Given the description of an element on the screen output the (x, y) to click on. 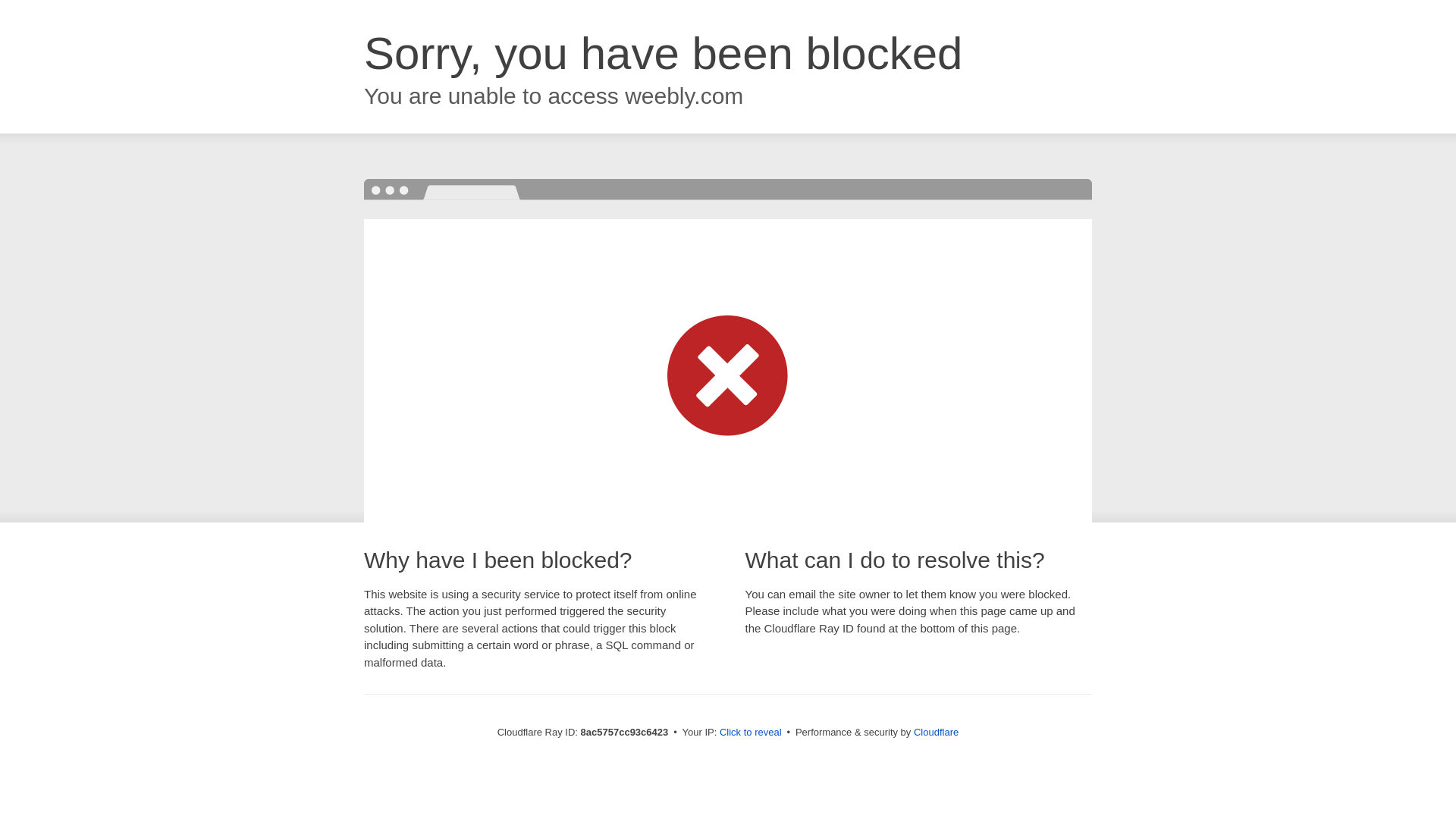
Cloudflare (936, 731)
Click to reveal (750, 732)
